Given the description of an element on the screen output the (x, y) to click on. 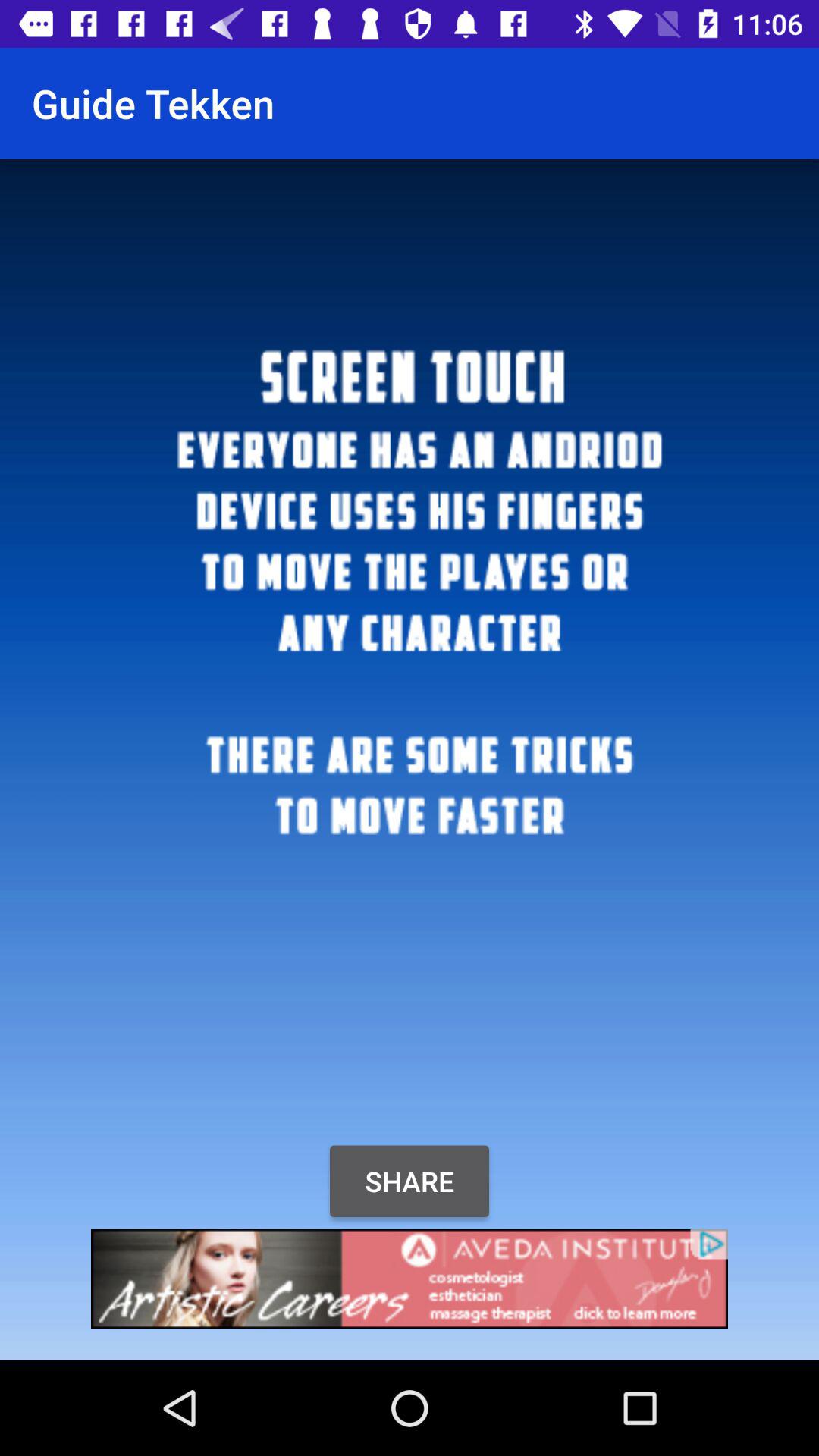
open advertisements (409, 1278)
